Given the description of an element on the screen output the (x, y) to click on. 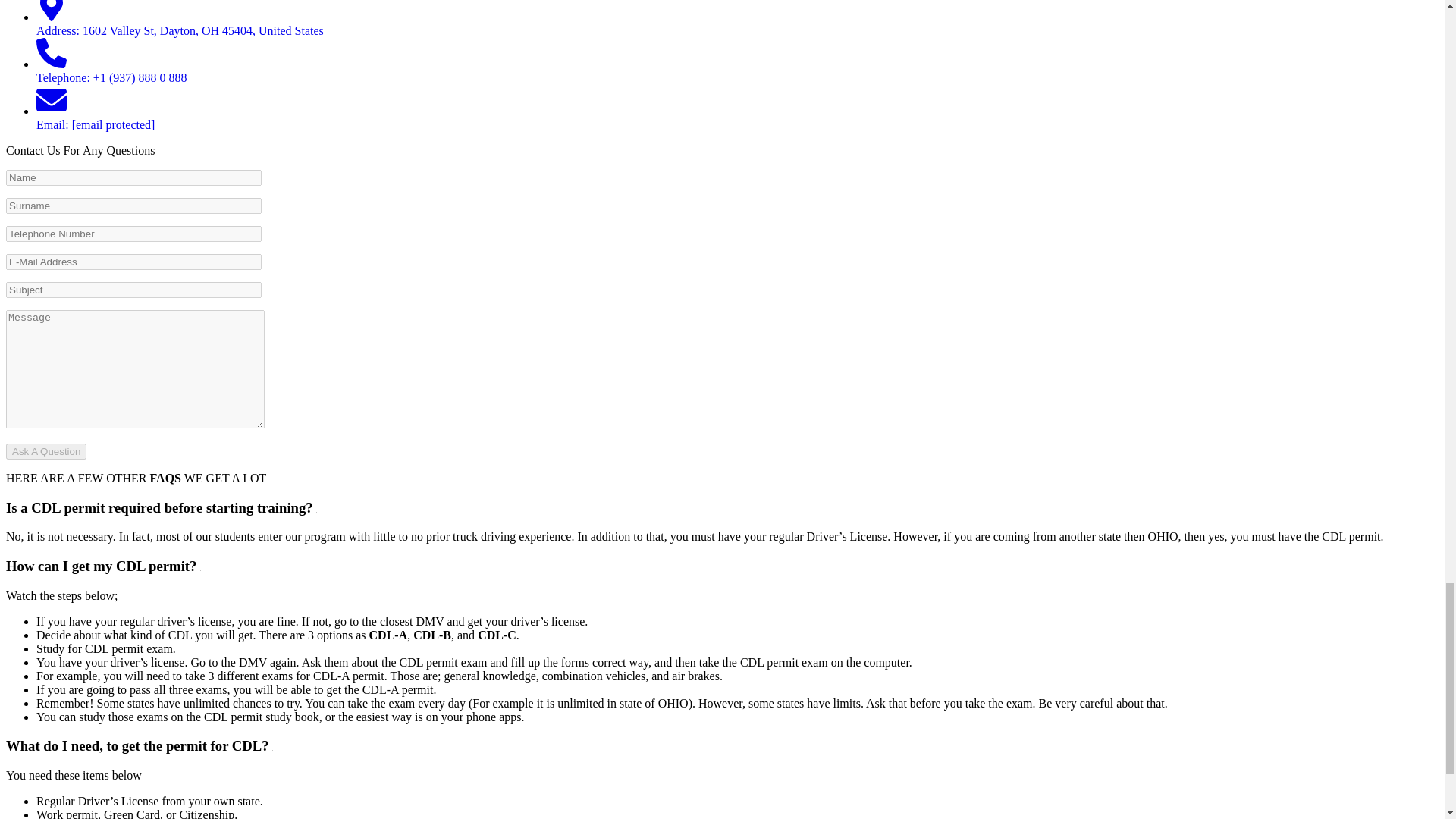
Ask A Question (45, 451)
